Given the description of an element on the screen output the (x, y) to click on. 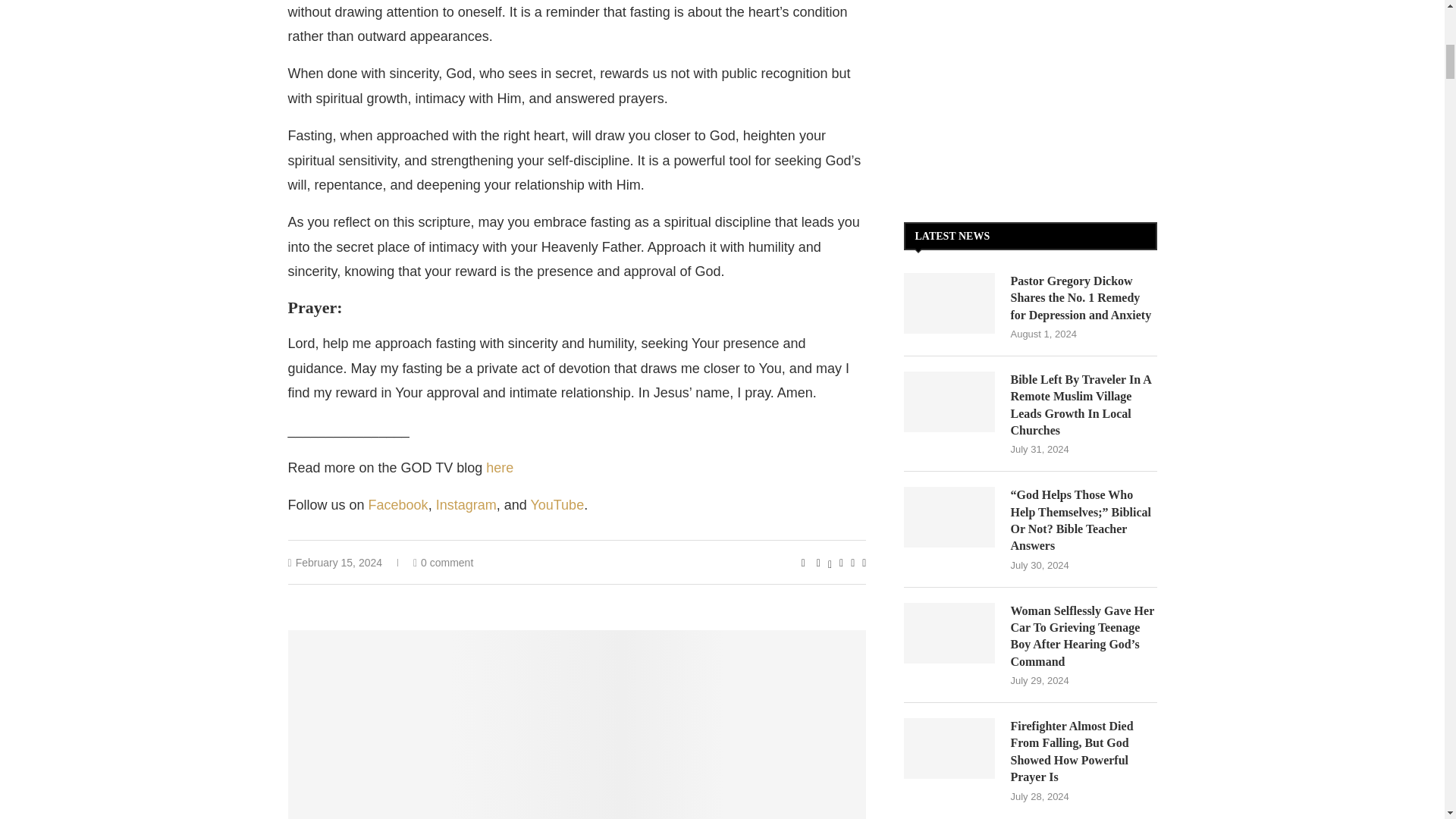
here (499, 467)
tyler-nix-sh3LSNbyj7k-unsplash (577, 724)
Instagram (465, 504)
Facebook (398, 504)
0 comment (443, 562)
YouTube (556, 504)
